Given the description of an element on the screen output the (x, y) to click on. 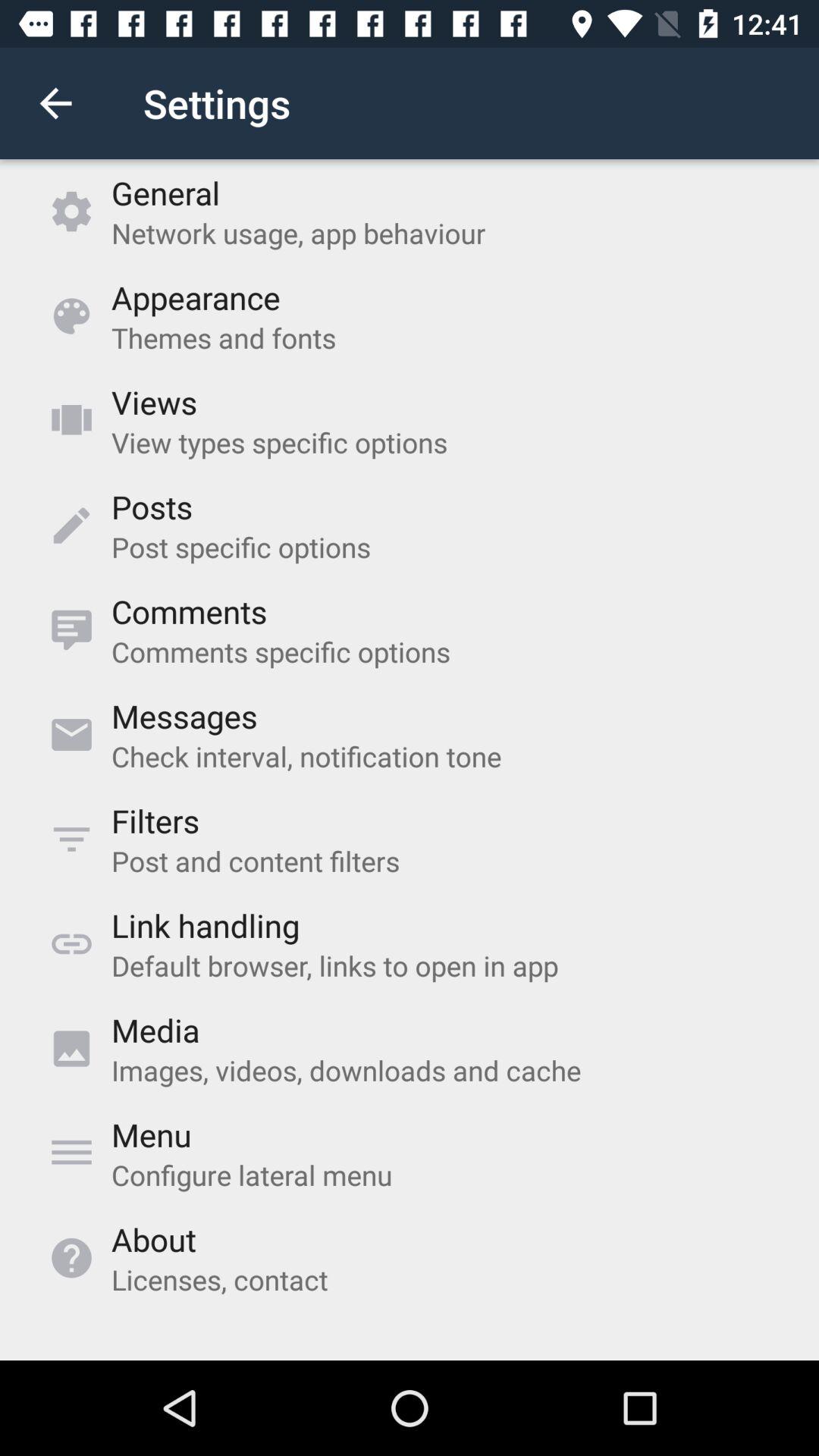
click the item above the post specific options item (151, 506)
